Given the description of an element on the screen output the (x, y) to click on. 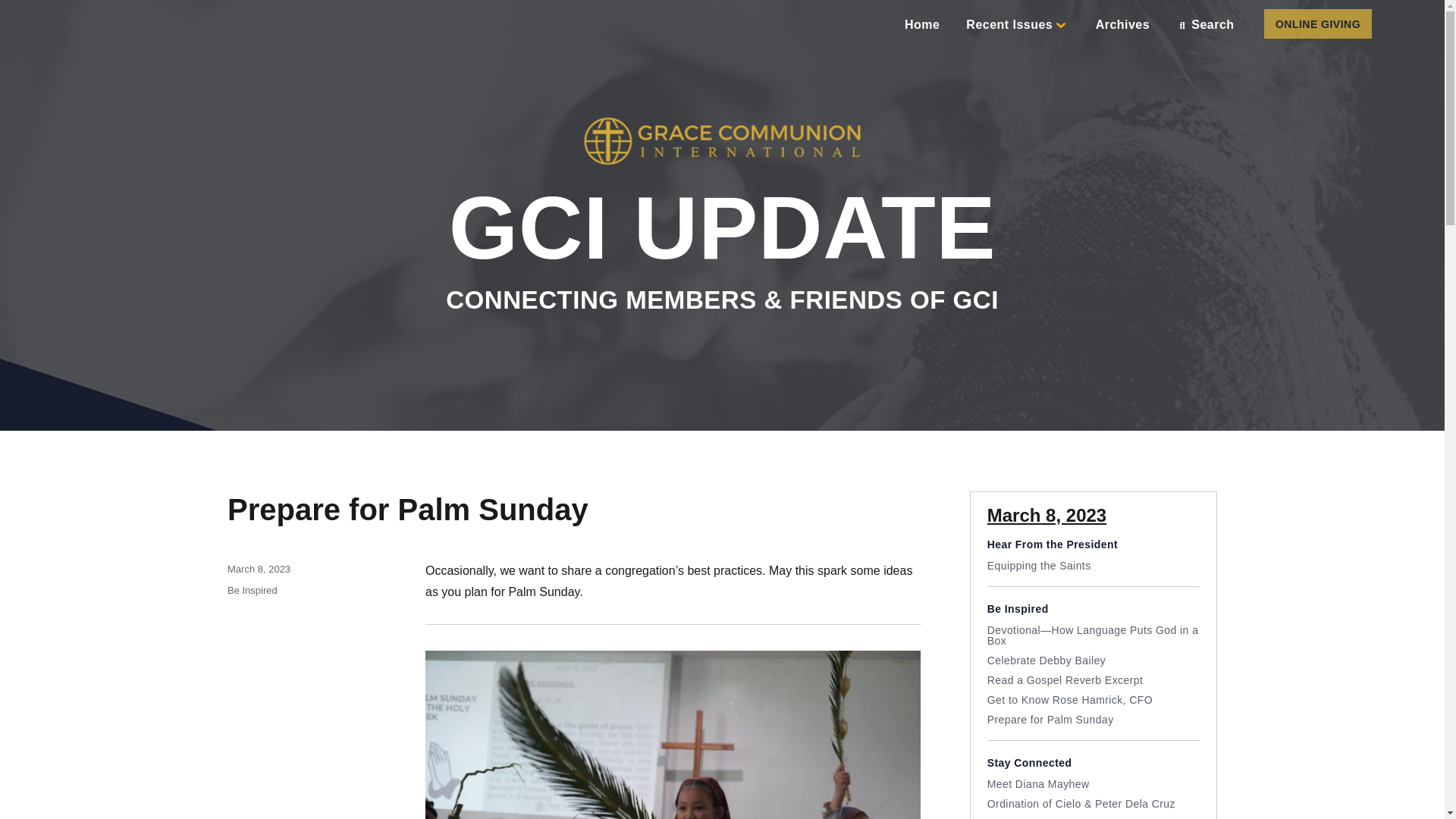
Home (921, 24)
Search (1206, 24)
Archives (1123, 24)
ONLINE GIVING (1317, 23)
Recent Issues (1015, 24)
